Given the description of an element on the screen output the (x, y) to click on. 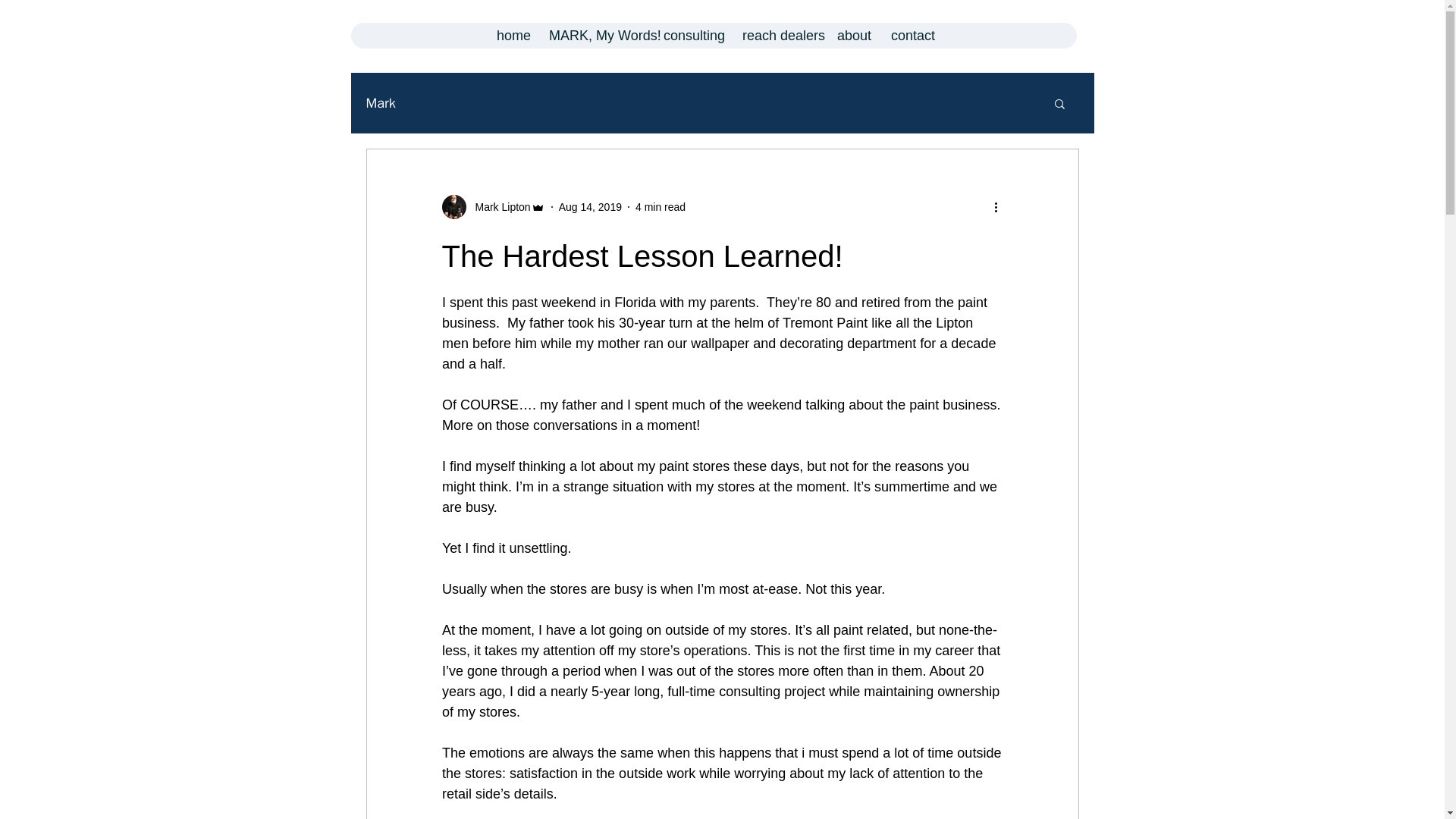
Mark Lipton (497, 206)
about (852, 35)
MARK, My Words! (593, 35)
reach dealers (777, 35)
Mark (379, 103)
contact (910, 35)
consulting (690, 35)
Aug 14, 2019 (590, 205)
home (510, 35)
Mark Lipton (492, 206)
